Given the description of an element on the screen output the (x, y) to click on. 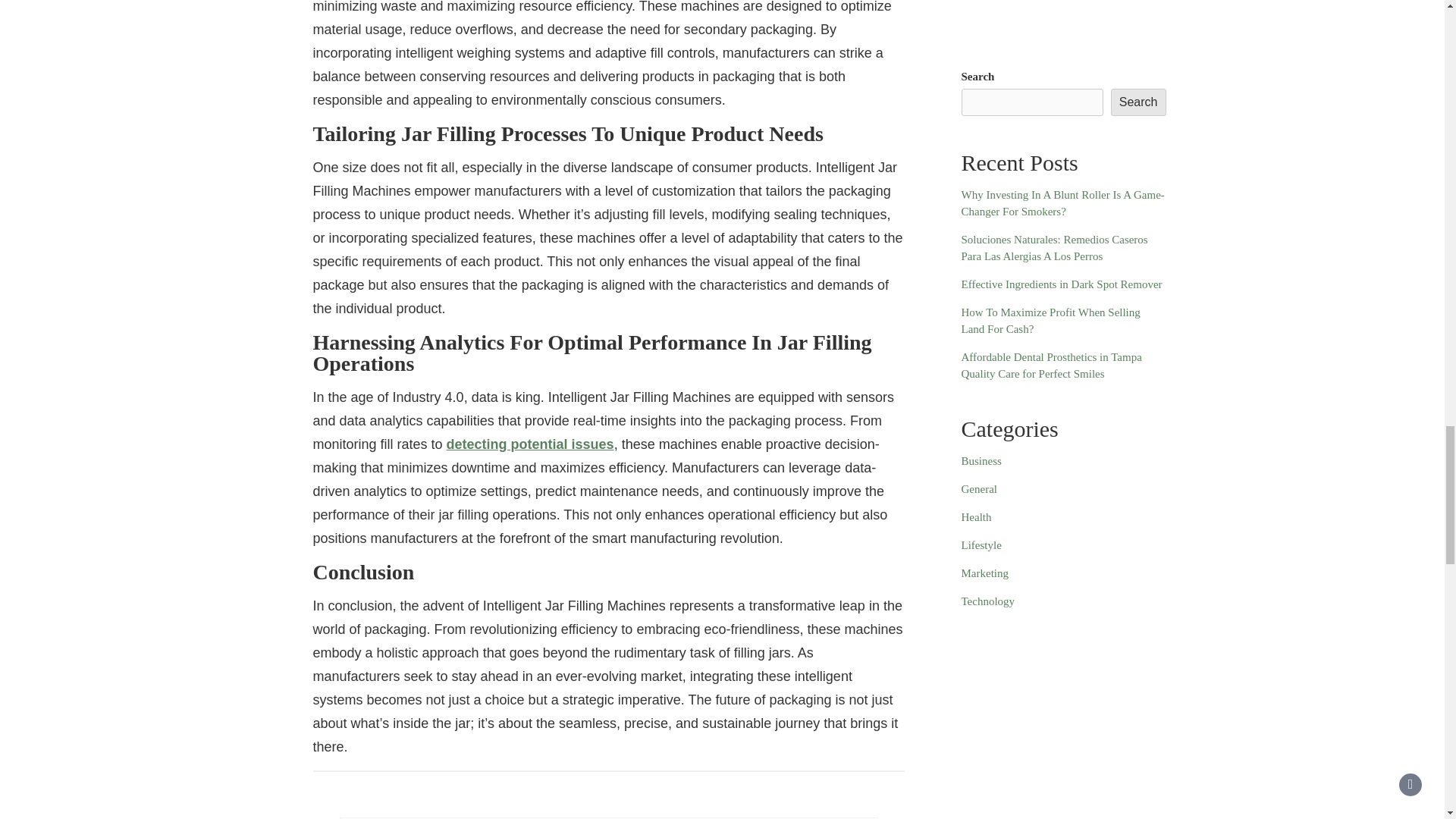
detecting potential issues (530, 444)
